Given the description of an element on the screen output the (x, y) to click on. 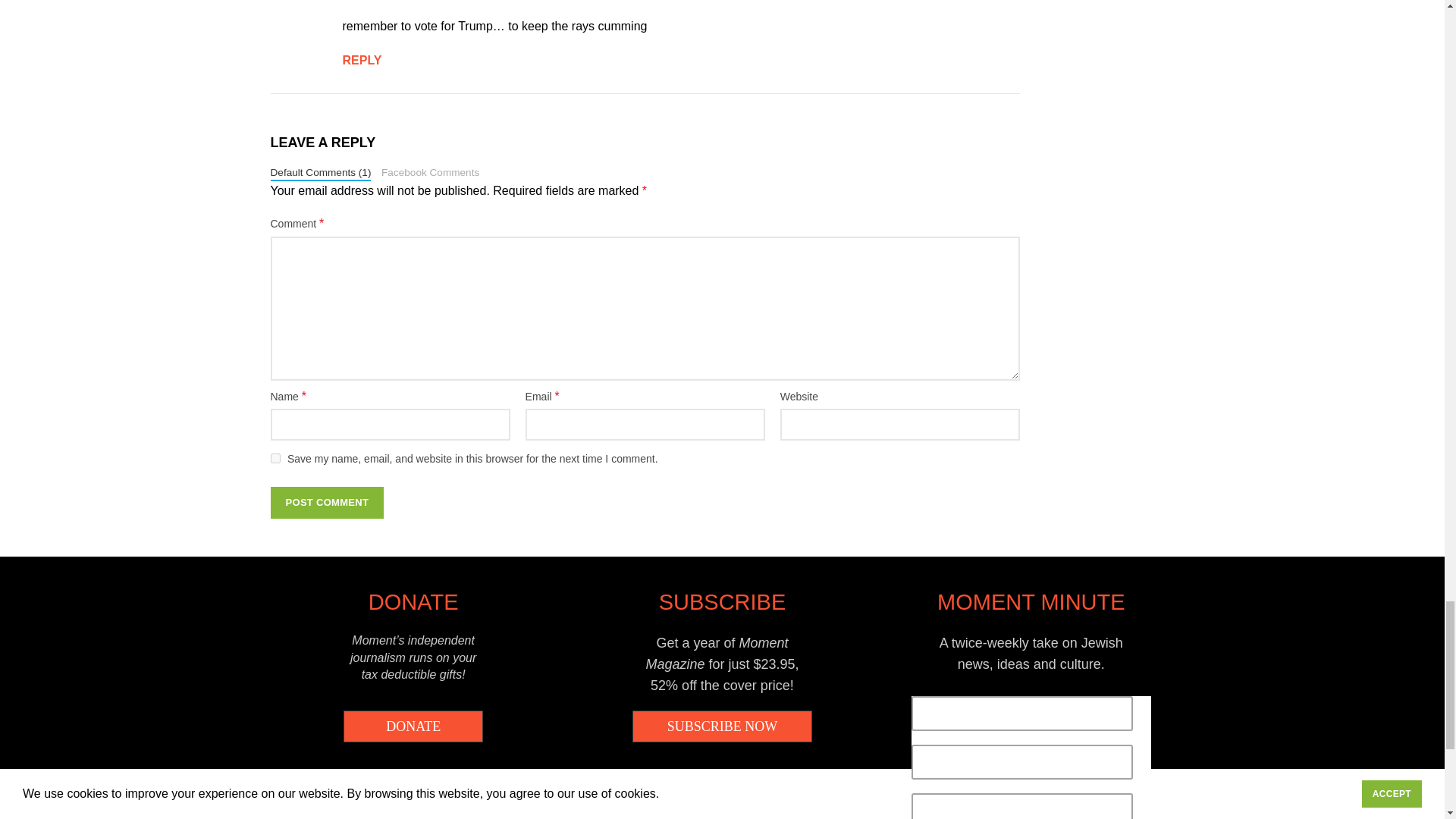
yes (274, 458)
Post Comment (326, 502)
